Given the description of an element on the screen output the (x, y) to click on. 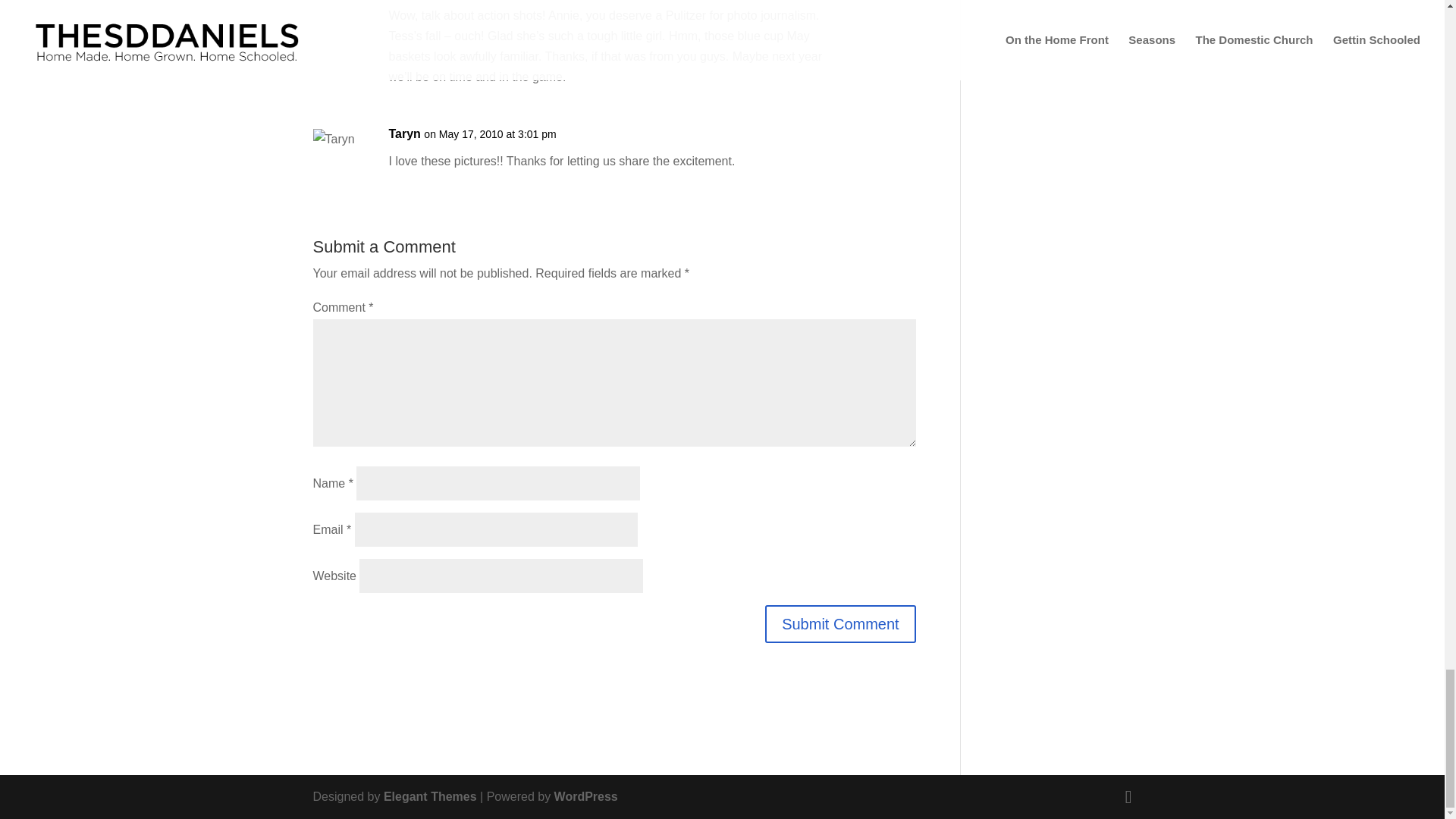
Submit Comment (840, 623)
Submit Comment (840, 623)
